Given the description of an element on the screen output the (x, y) to click on. 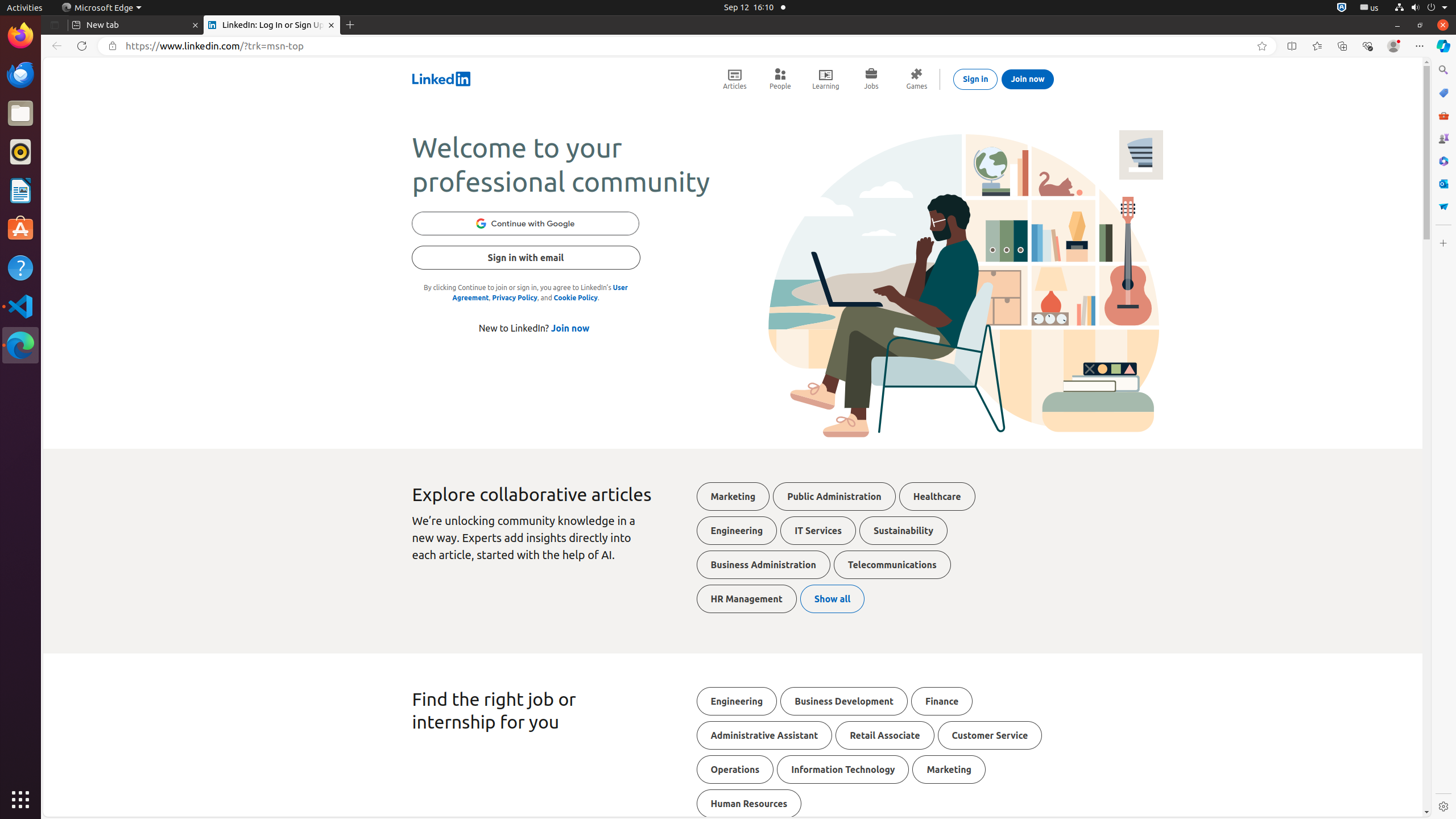
Browser essentials Element type: push-button (1366, 45)
HR Management Element type: link (746, 598)
Engineering Element type: link (736, 530)
LibreOffice Writer Element type: push-button (20, 190)
Sign in with email Element type: link (525, 257)
